Given the description of an element on the screen output the (x, y) to click on. 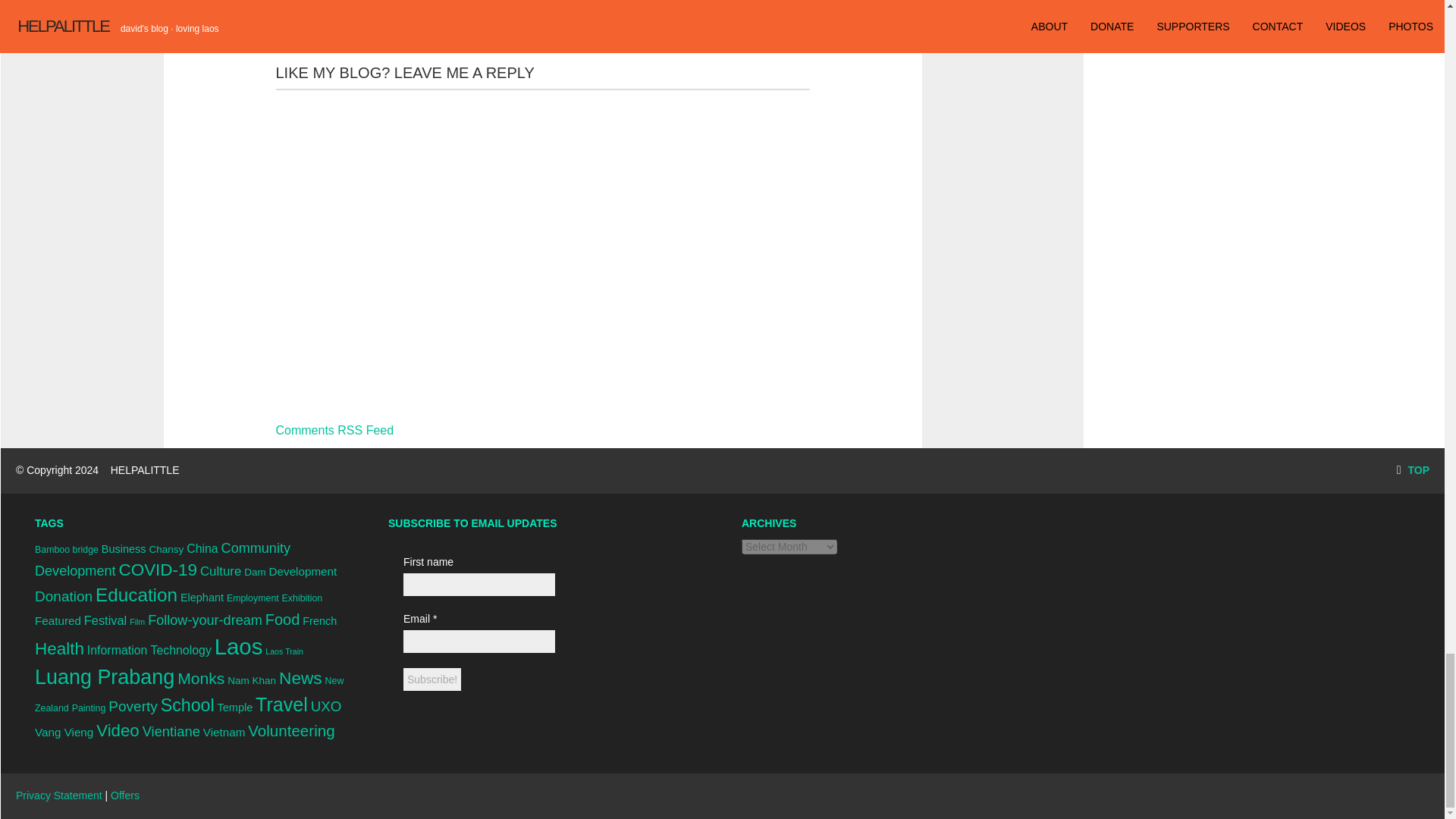
TOP (1412, 469)
Reply (360, 26)
Subscribe! (432, 679)
Chansy (165, 549)
Business (124, 548)
Bamboo bridge (66, 549)
Comments RSS Feed (335, 430)
China (202, 548)
